Given the description of an element on the screen output the (x, y) to click on. 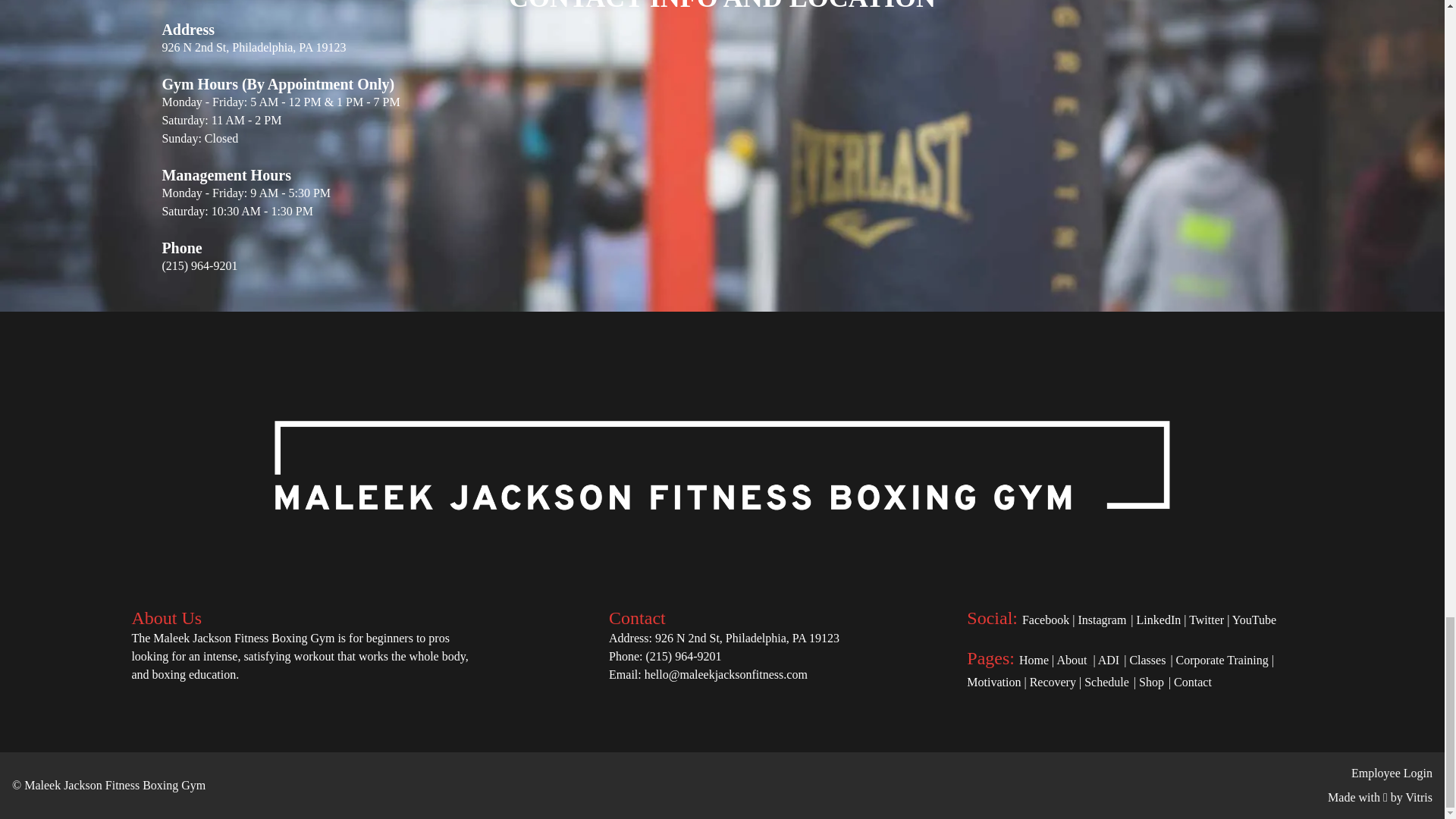
Corporate Training (1222, 659)
926 N 2nd St, Philadelphia, PA 19123 (253, 47)
Instagram (1101, 619)
About (1071, 659)
Classes (1147, 659)
ADI (1108, 659)
LinkedIn (1158, 619)
YouTube (1253, 619)
Facebook (1045, 619)
926 N 2nd St, Philadelphia, PA (730, 637)
Home (1033, 659)
Twitter (1206, 619)
